Given the description of an element on the screen output the (x, y) to click on. 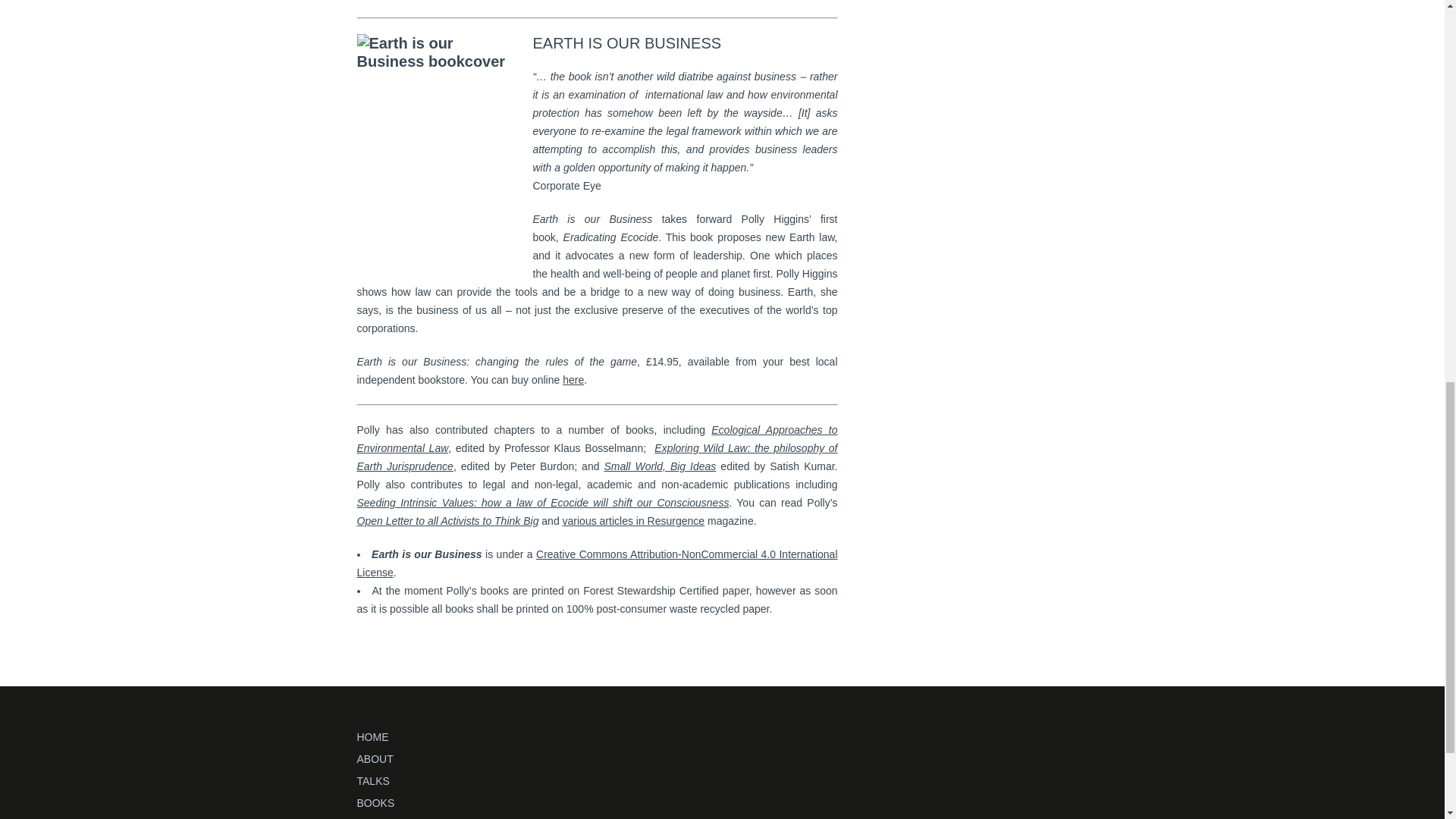
Open Letter To All Grassroots Activists (447, 521)
BOOKS (375, 802)
various articles in Resurgence (633, 521)
Ecological Approaches to Environmental Law (596, 439)
Exploring Wild Law: the philosophy of Earth Jurisprudence (596, 457)
here (572, 379)
Open Letter to all Activists to Think Big (447, 521)
Polly Higgins Earth is our Business (572, 379)
 Exploring Wild Law: the philosophy of earth jurisprudence  (596, 457)
TALKS (372, 780)
HOME (372, 736)
Seeding Intrinsic values (542, 502)
ABOUT (374, 758)
